Given the description of an element on the screen output the (x, y) to click on. 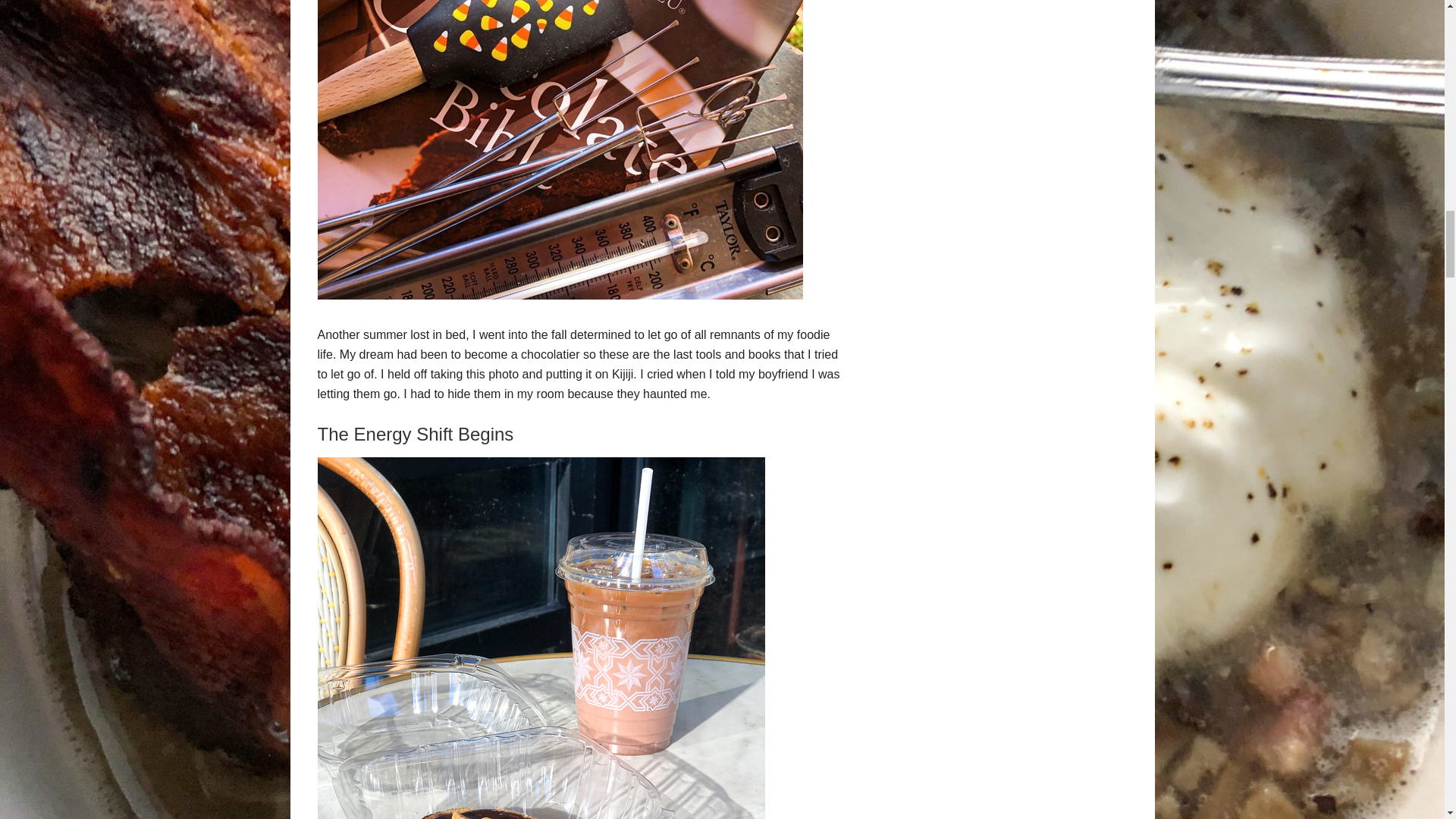
Suzie The Foodie Is Back (559, 295)
